Given the description of an element on the screen output the (x, y) to click on. 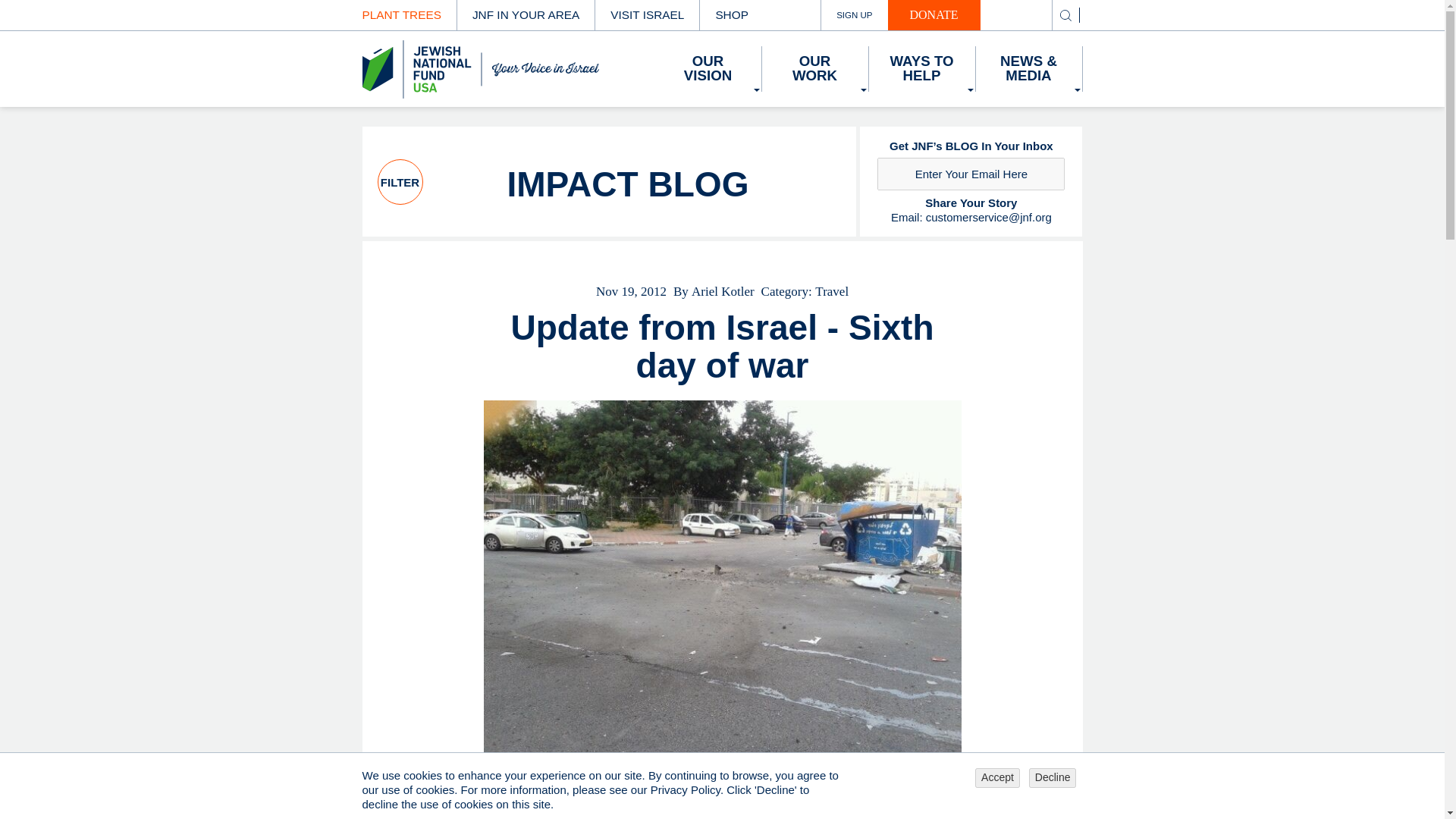
OUR WORK (814, 68)
WAYS TO HELP (922, 68)
DONATE (933, 15)
Decline (1053, 777)
SHOP (731, 15)
OUR VISION (708, 68)
Privacy policy (685, 789)
Privacy Policy (685, 789)
VISIT ISRAEL (646, 15)
JNF IN YOUR AREA (525, 15)
